Given the description of an element on the screen output the (x, y) to click on. 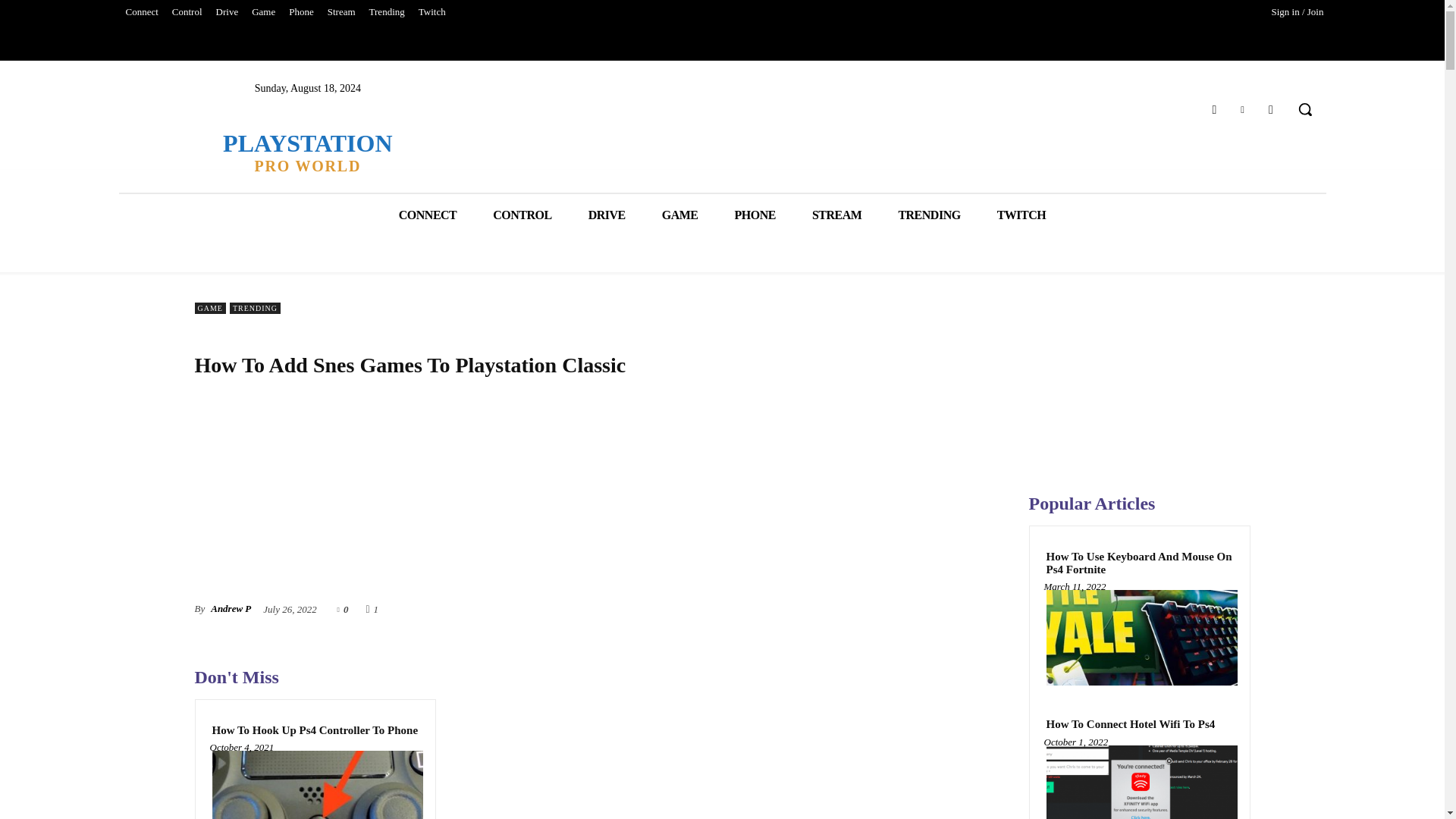
Control (187, 12)
How To Hook Up Ps4 Controller To Phone (314, 730)
How To Hook Up Ps4 Controller To Phone (314, 785)
GAME (679, 214)
DRIVE (606, 214)
Phone (301, 12)
Connect (140, 12)
Youtube (1270, 109)
Twitch (432, 12)
